Given the description of an element on the screen output the (x, y) to click on. 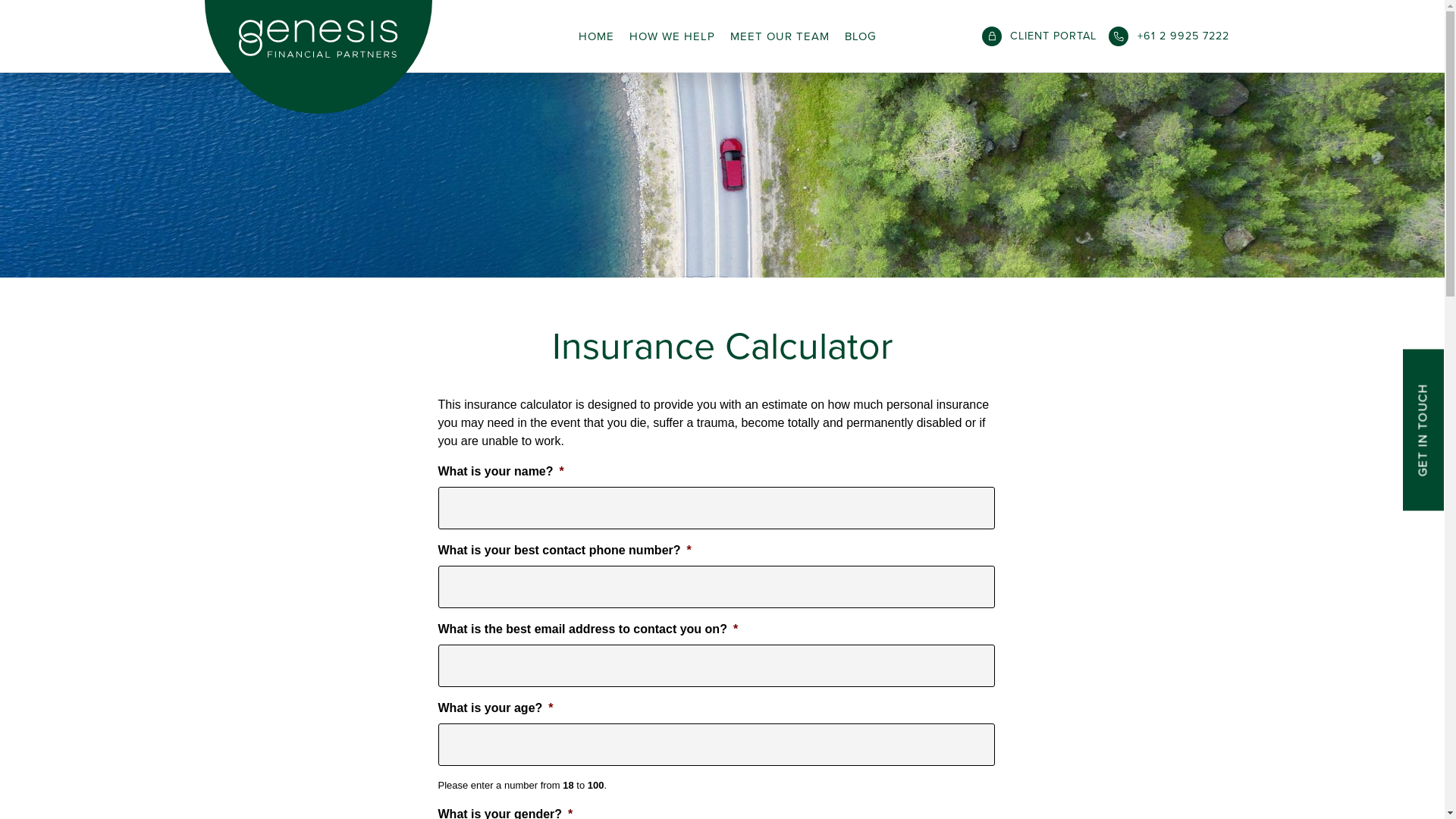
+61 2 9925 7222 Element type: text (1168, 35)
HOW WE HELP Element type: text (671, 35)
CLIENT PORTAL Element type: text (1039, 35)
HOME Element type: text (596, 35)
BLOG Element type: text (860, 35)
MEET OUR TEAM Element type: text (779, 35)
